Given the description of an element on the screen output the (x, y) to click on. 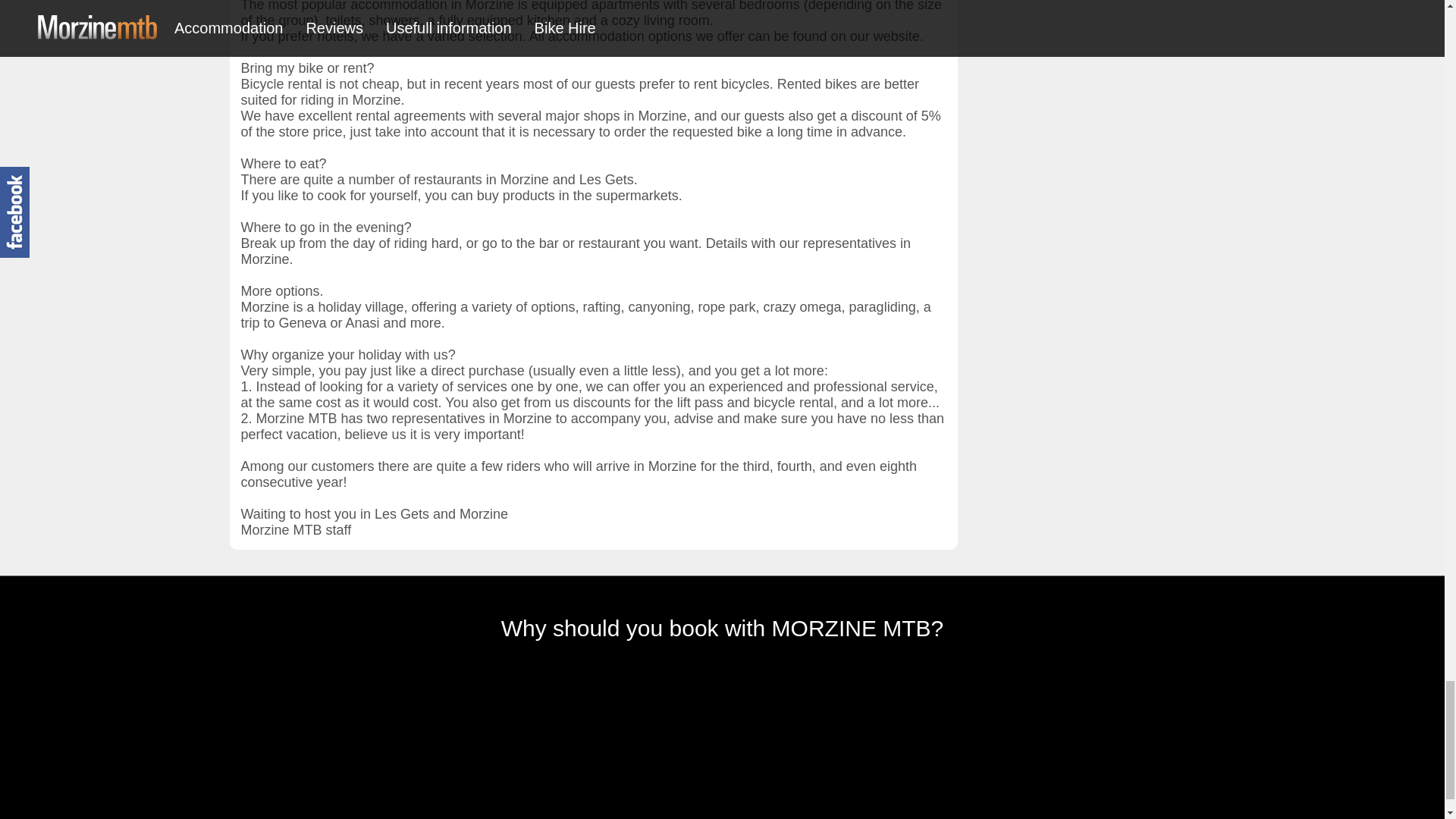
Internet everywhere (792, 744)
Best Price Guarantee (368, 744)
Exclusive Discounts (1074, 744)
Save your Precious Time (933, 744)
